Given the description of an element on the screen output the (x, y) to click on. 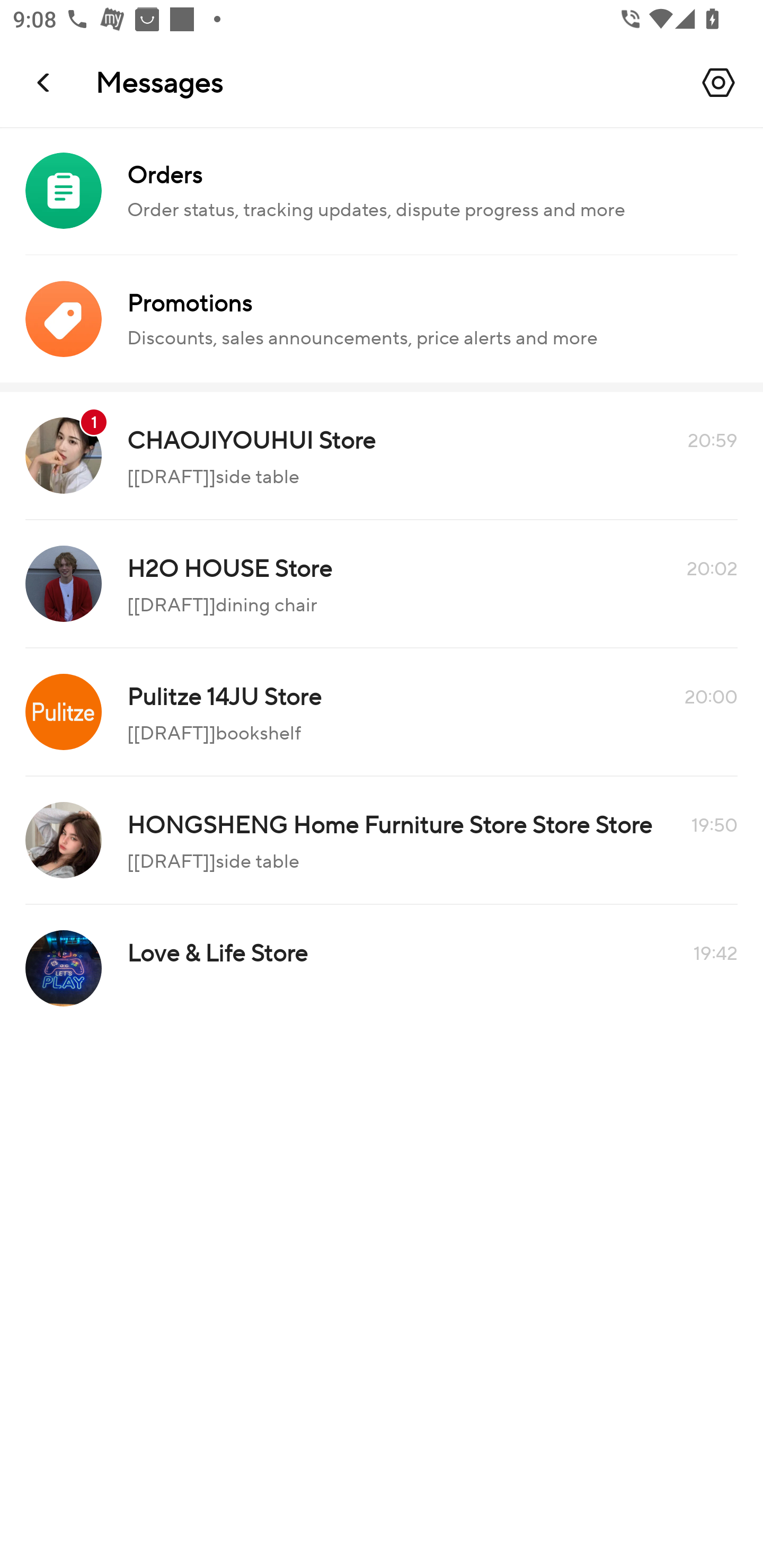
Navigate up (44, 82)
